Given the description of an element on the screen output the (x, y) to click on. 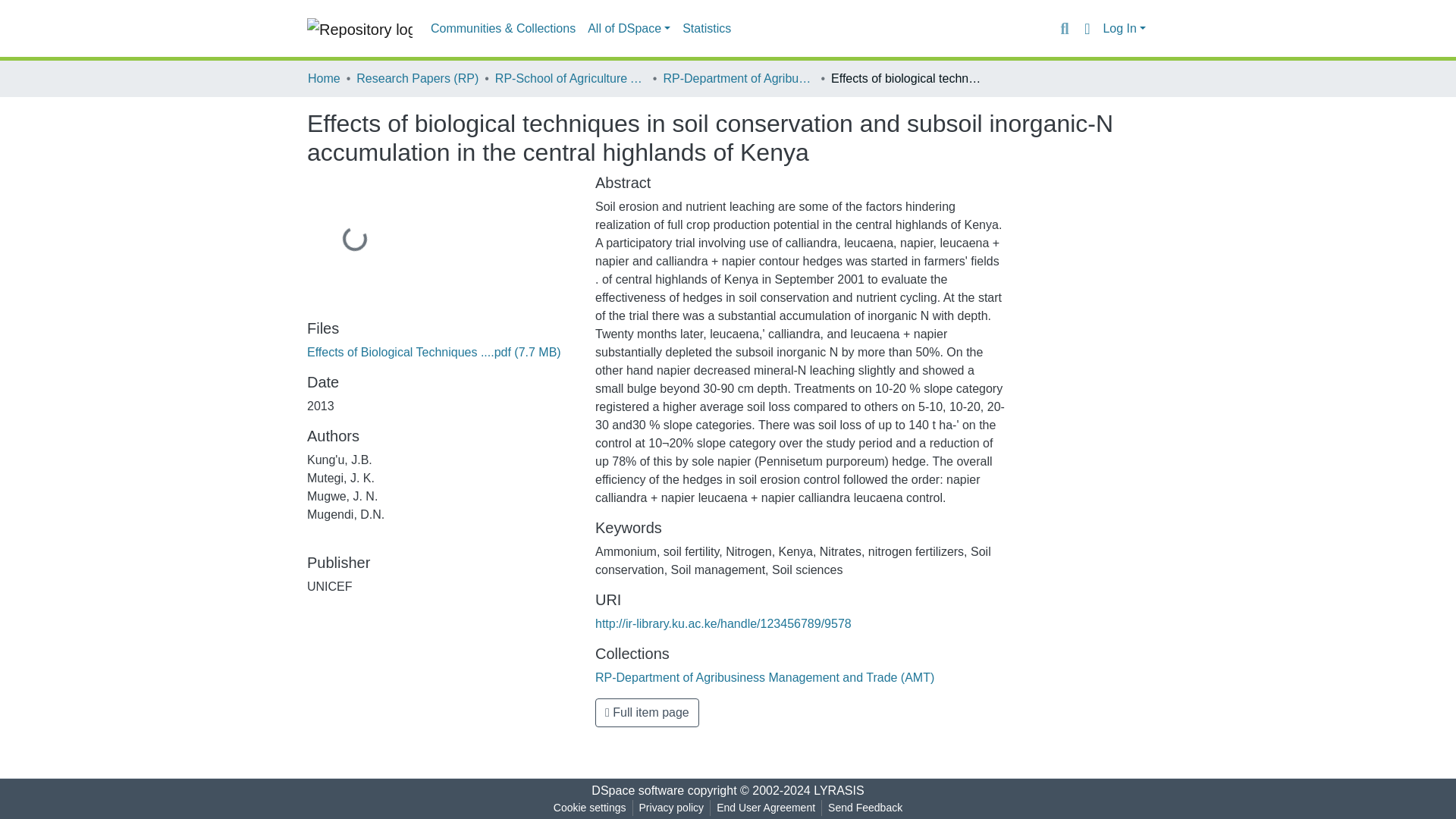
Statistics (706, 28)
Cookie settings (589, 807)
All of DSpace (628, 28)
End User Agreement (765, 807)
Search (1064, 28)
LYRASIS (838, 789)
DSpace software (637, 789)
RP-School of Agriculture And Enterprise Development (570, 78)
Full item page (646, 712)
Statistics (706, 28)
Language switch (1086, 28)
Send Feedback (865, 807)
Log In (1123, 28)
Privacy policy (671, 807)
Home (323, 78)
